Given the description of an element on the screen output the (x, y) to click on. 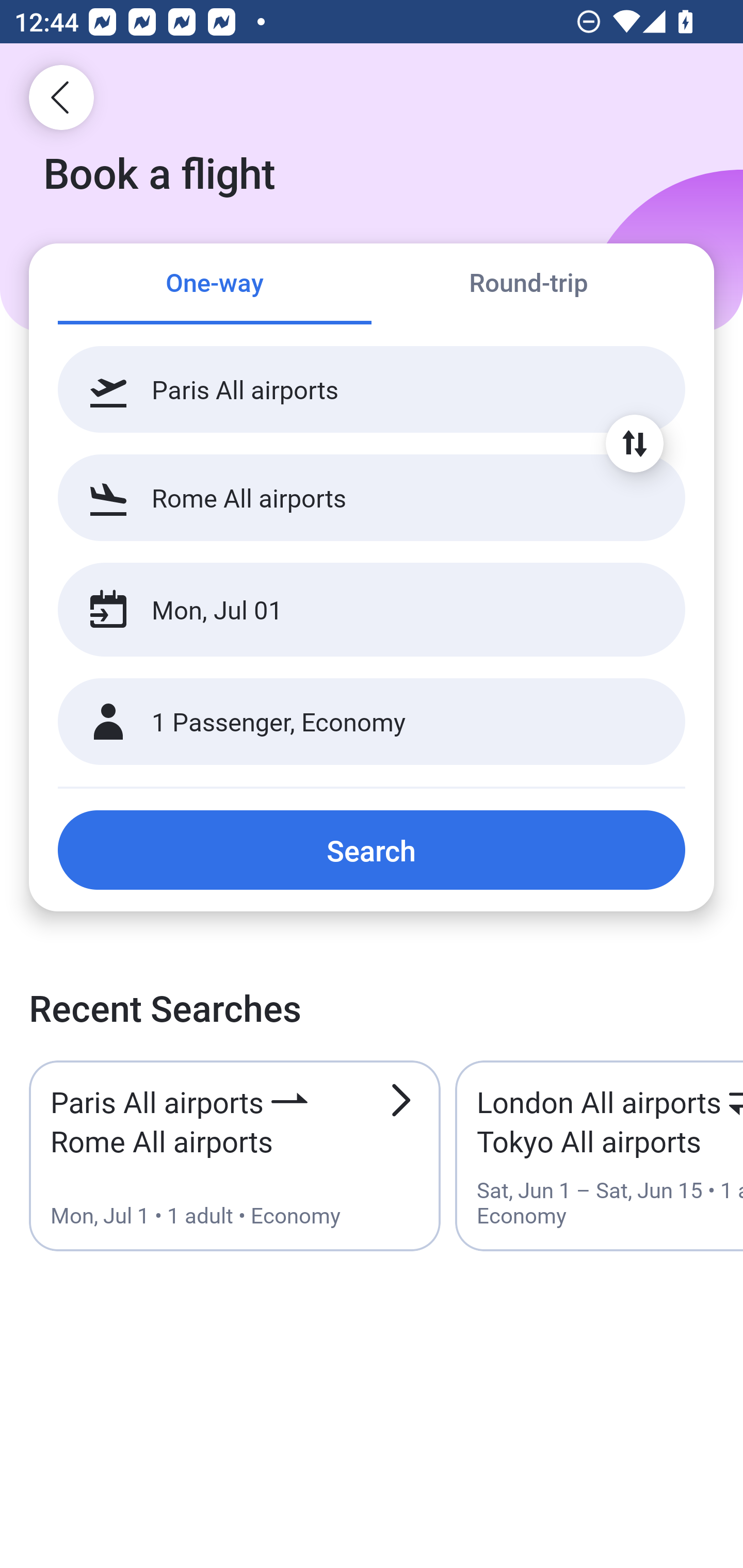
Round-trip (528, 284)
Paris All airports (371, 389)
Rome All airports (371, 497)
Mon, Jul 01 (349, 609)
1 Passenger, Economy (371, 721)
Search (371, 849)
